Given the description of an element on the screen output the (x, y) to click on. 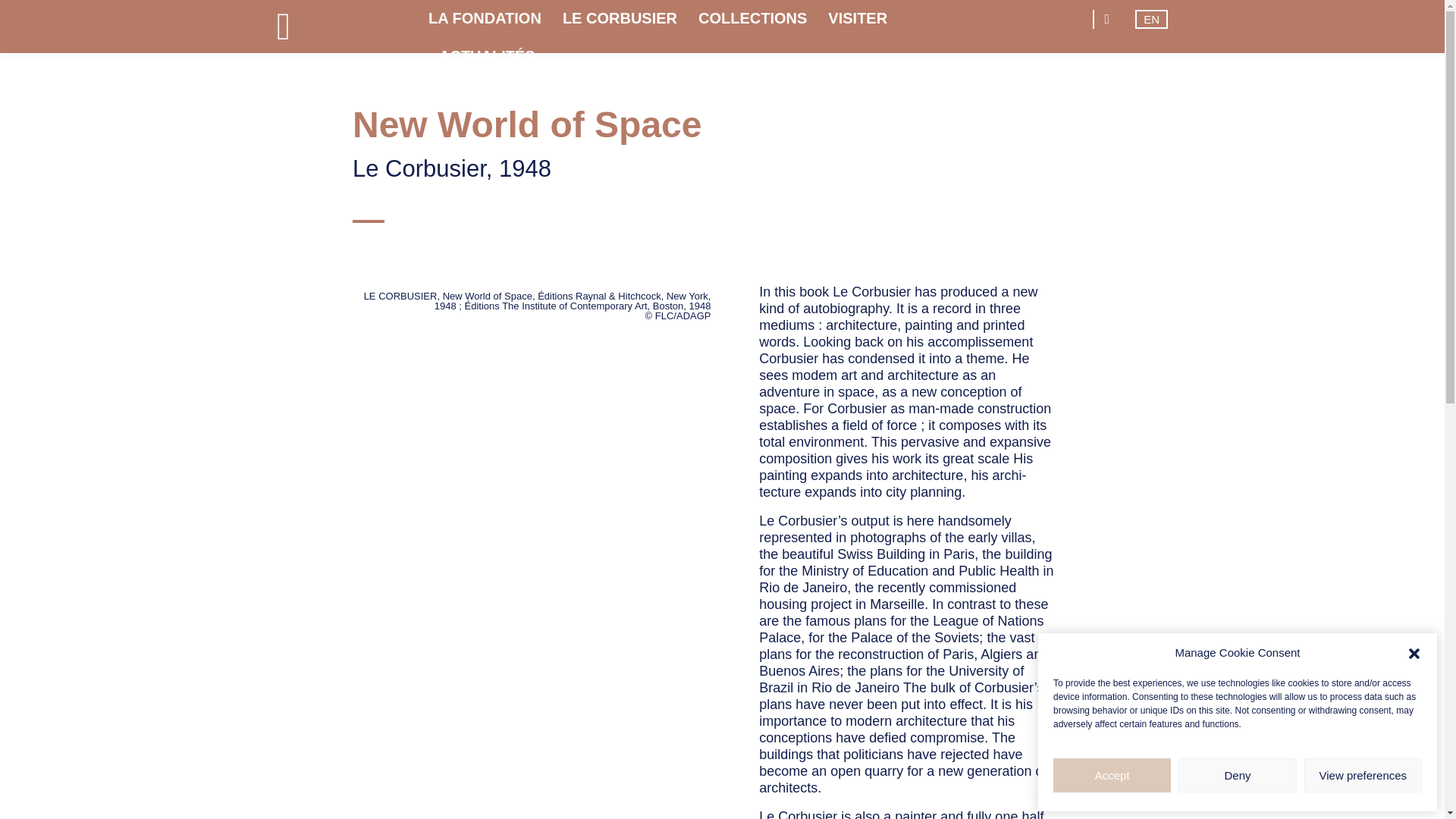
OK (990, 92)
LA FONDATION (489, 26)
LE CORBUSIER (619, 26)
Deny (1236, 775)
Accept (1111, 775)
View preferences (1363, 775)
